Given the description of an element on the screen output the (x, y) to click on. 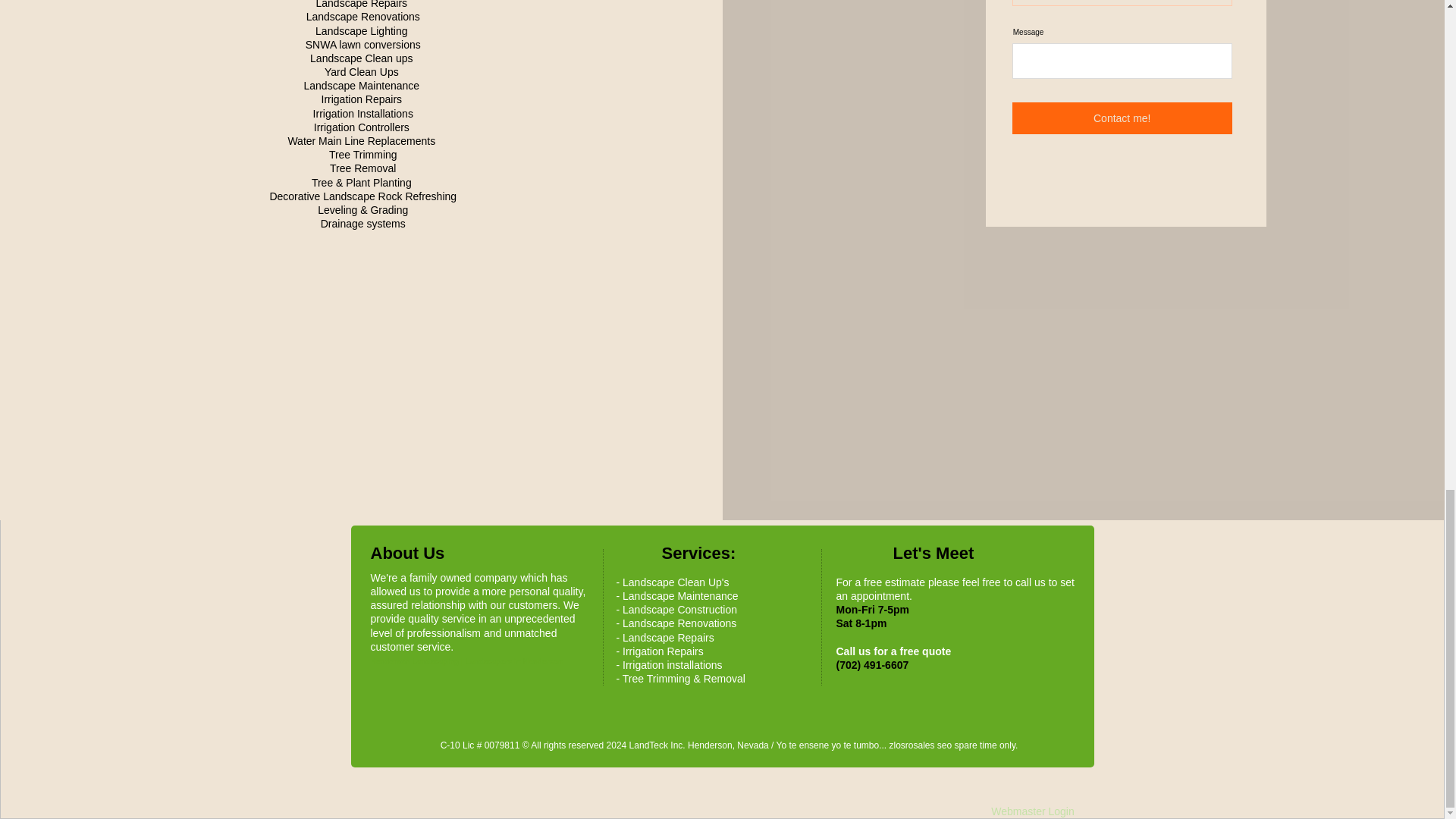
Contact me! (1121, 118)
